Given the description of an element on the screen output the (x, y) to click on. 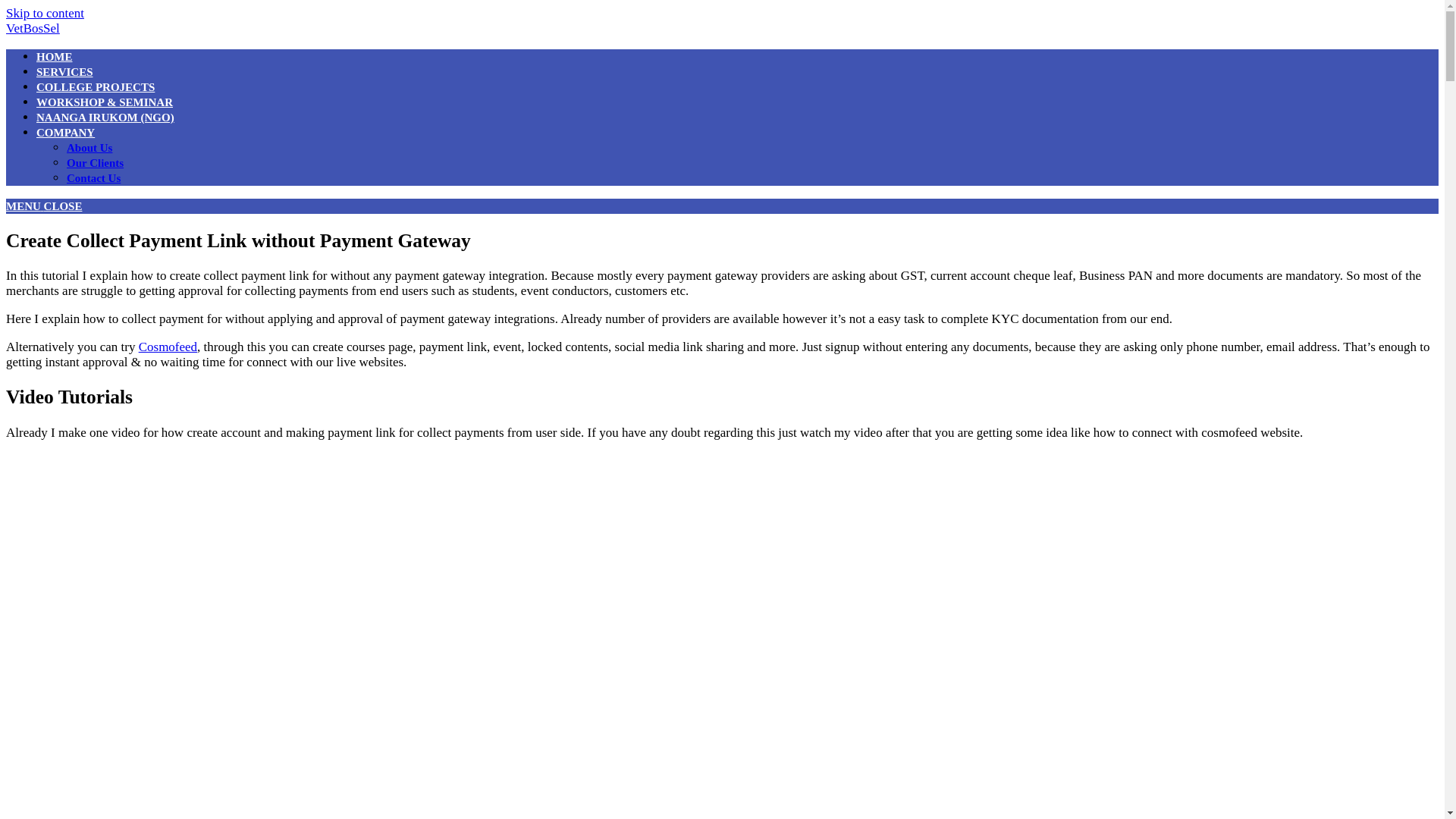
COMPANY (65, 132)
COLLEGE PROJECTS (95, 87)
About Us (89, 147)
Skip to content (44, 12)
Cosmofeed (167, 346)
Our Clients (94, 162)
MENU CLOSE (43, 205)
Contact Us (93, 177)
VetBosSel (32, 28)
SERVICES (64, 71)
HOME (54, 56)
